Given the description of an element on the screen output the (x, y) to click on. 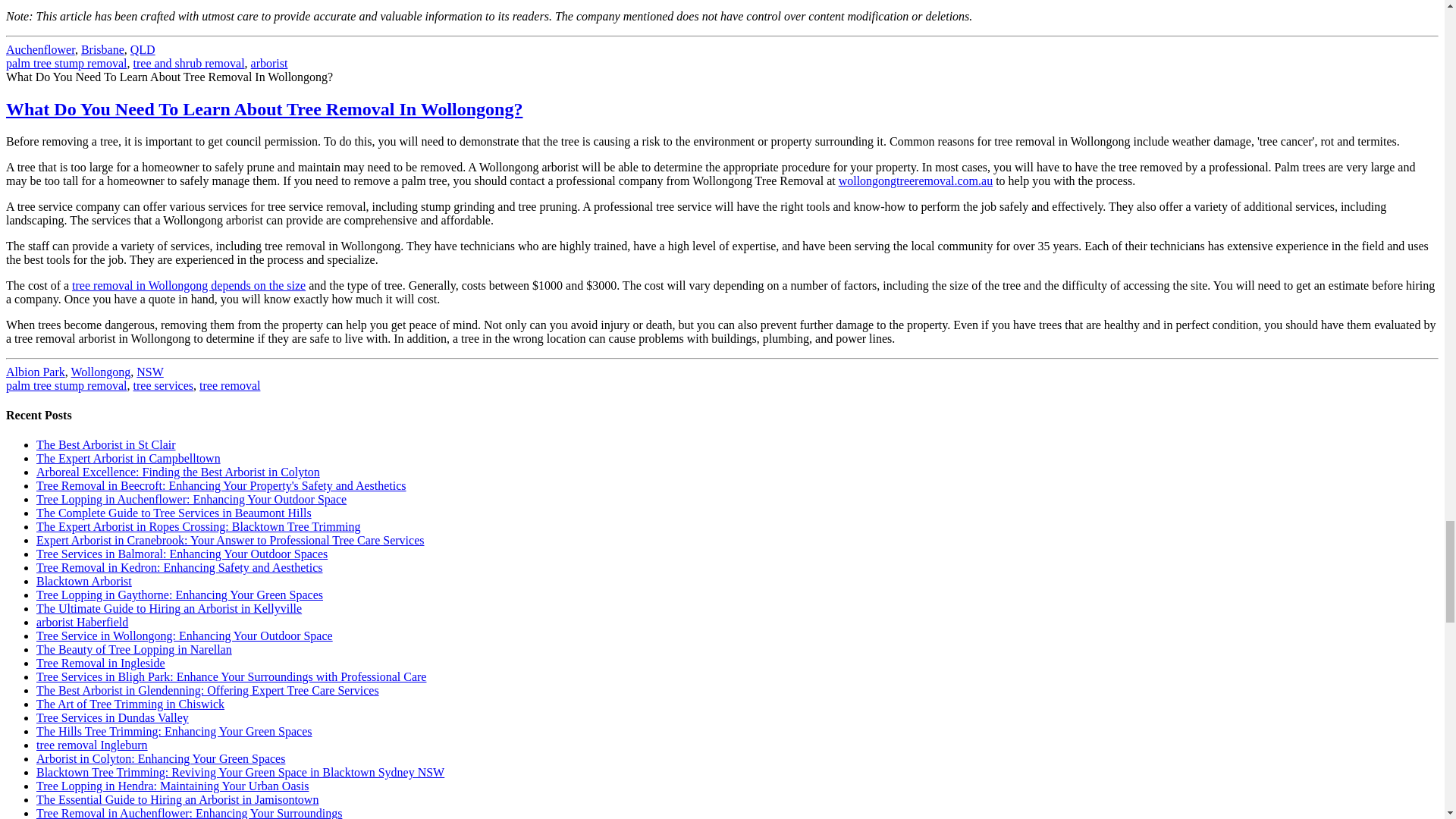
wollongongtreeremoval.com.au (915, 180)
What Do You Need To Learn About Tree Removal In Wollongong? (263, 108)
Brisbane (102, 49)
Auchenflower (40, 49)
Albion Park (35, 371)
palm tree stump removal (66, 62)
QLD (143, 49)
tree and shrub removal (188, 62)
tree removal in Wollongong depends on the size (188, 285)
arborist (269, 62)
Wollongong (101, 371)
